Given the description of an element on the screen output the (x, y) to click on. 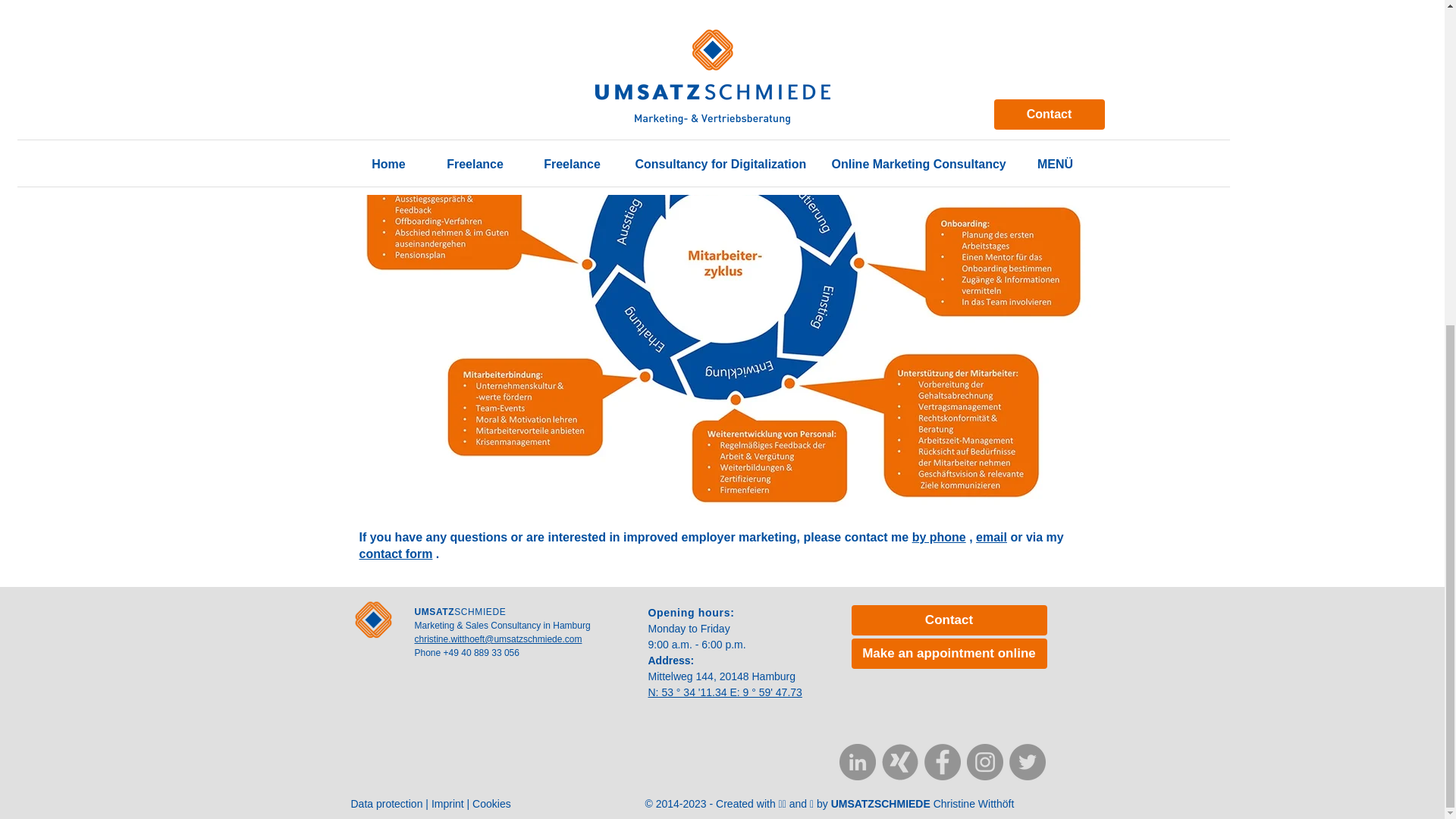
email (991, 536)
contact form (395, 553)
by phone (939, 536)
